Given the description of an element on the screen output the (x, y) to click on. 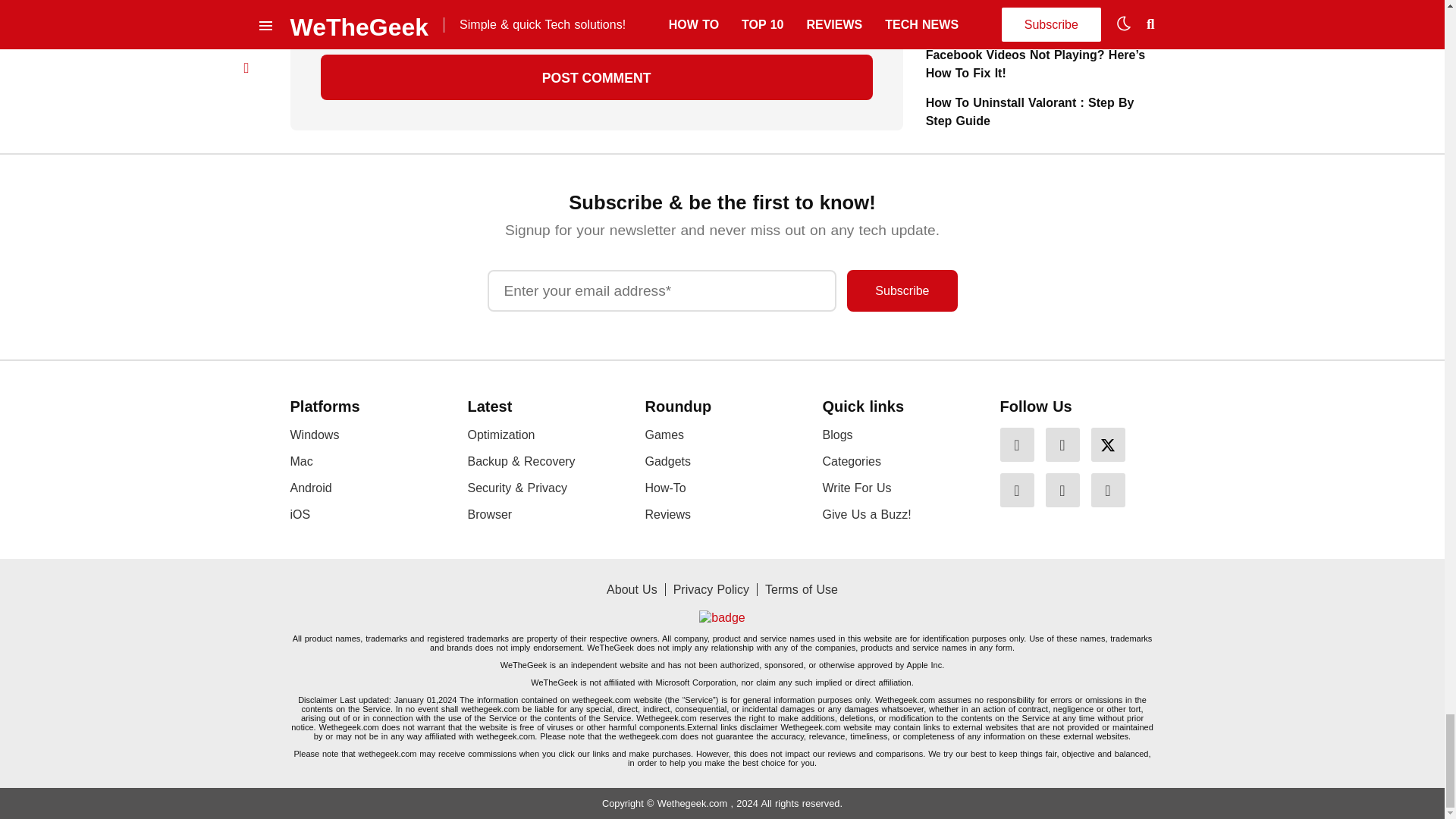
yes (325, 21)
Subscribe (901, 291)
Post Comment (596, 76)
